Given the description of an element on the screen output the (x, y) to click on. 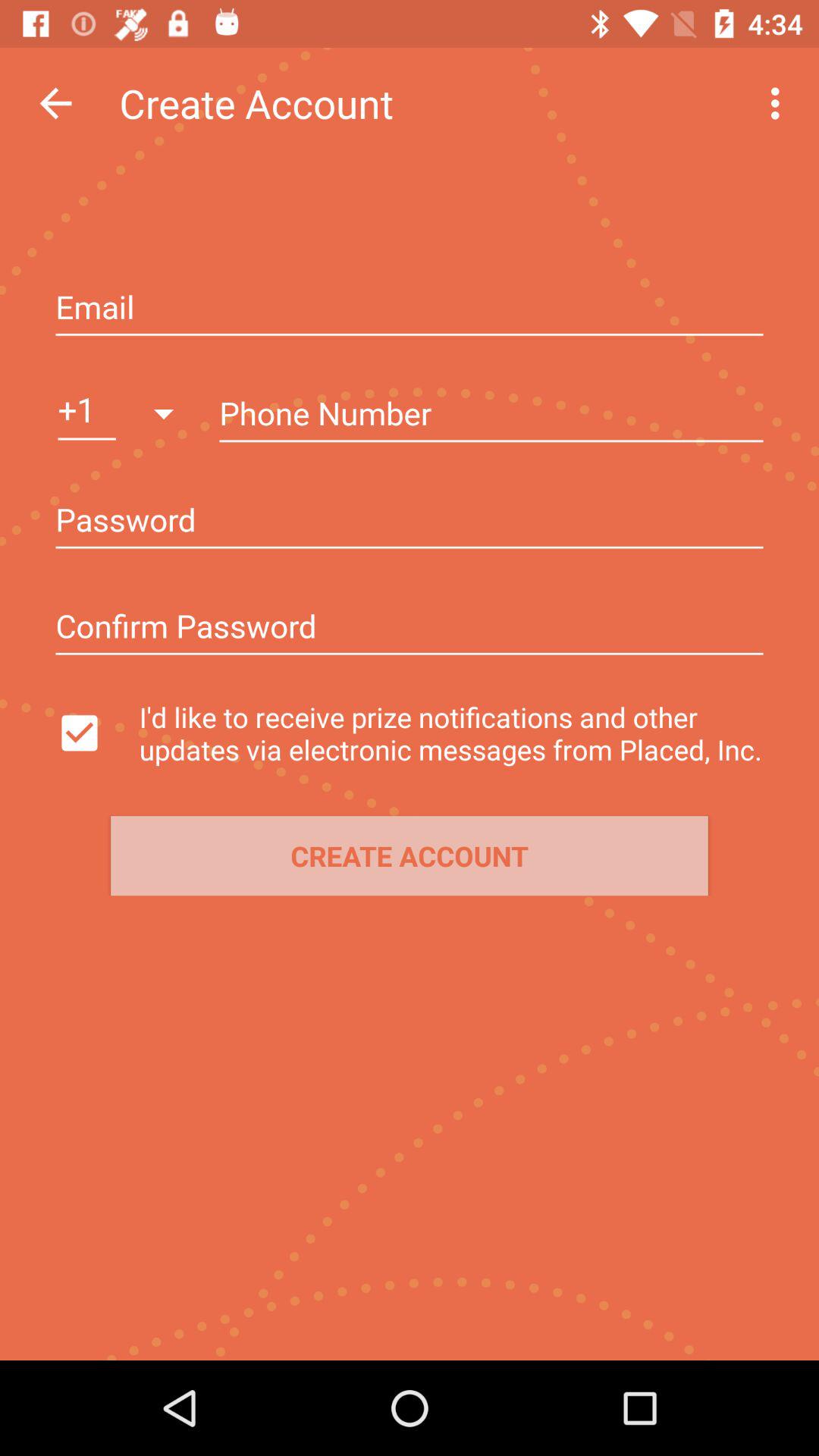
switch notifications option (93, 732)
